Given the description of an element on the screen output the (x, y) to click on. 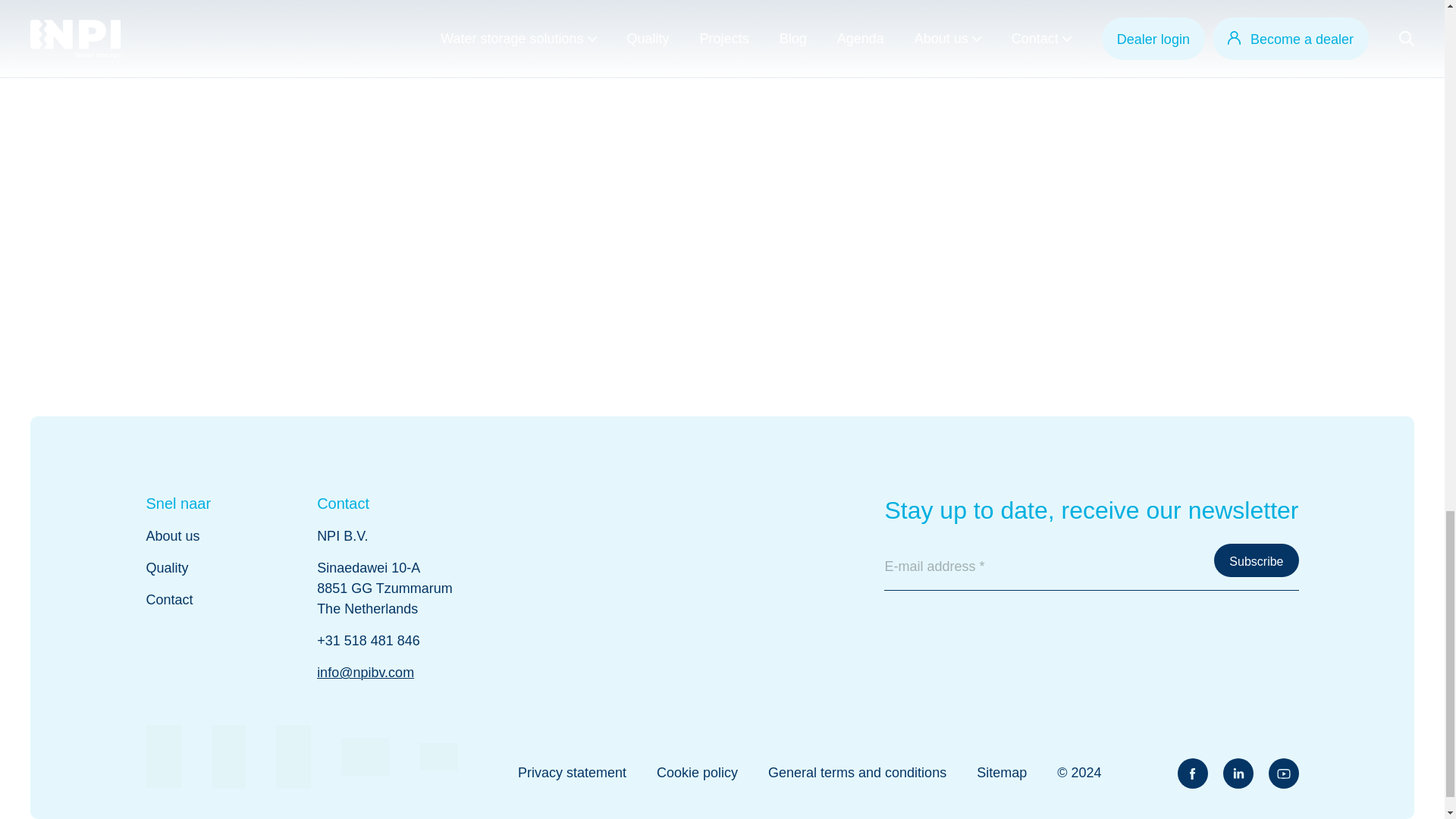
LinkedIn (1237, 773)
Subscribe (1256, 560)
E-mail address (1090, 566)
YouTube (1283, 773)
Facebook (1191, 773)
